Given the description of an element on the screen output the (x, y) to click on. 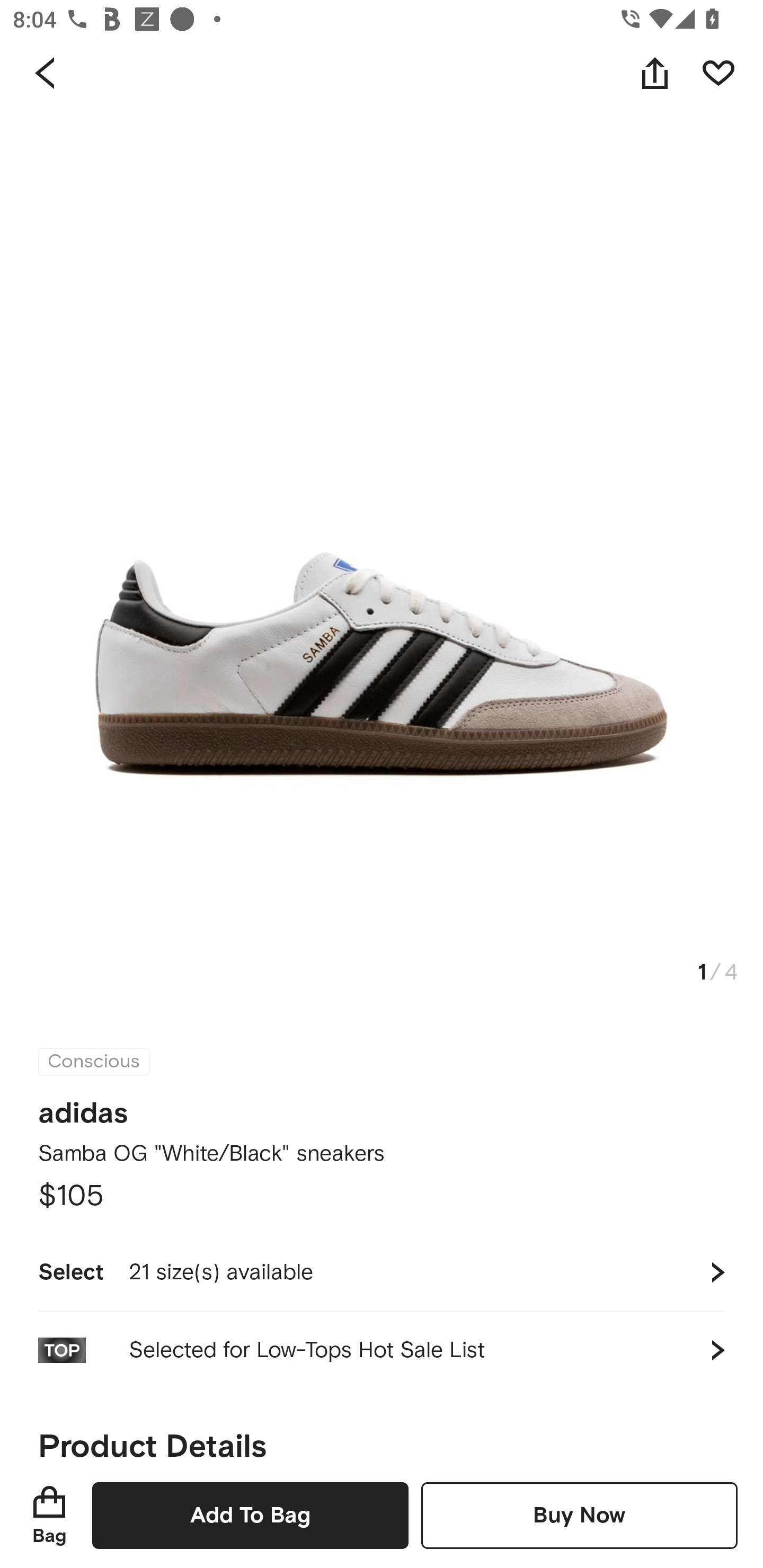
adidas (83, 1107)
Select 21 size(s) available (381, 1272)
Selected for Low-Tops Hot Sale List (381, 1349)
Bag (49, 1515)
Add To Bag (250, 1515)
Buy Now (579, 1515)
